Given the description of an element on the screen output the (x, y) to click on. 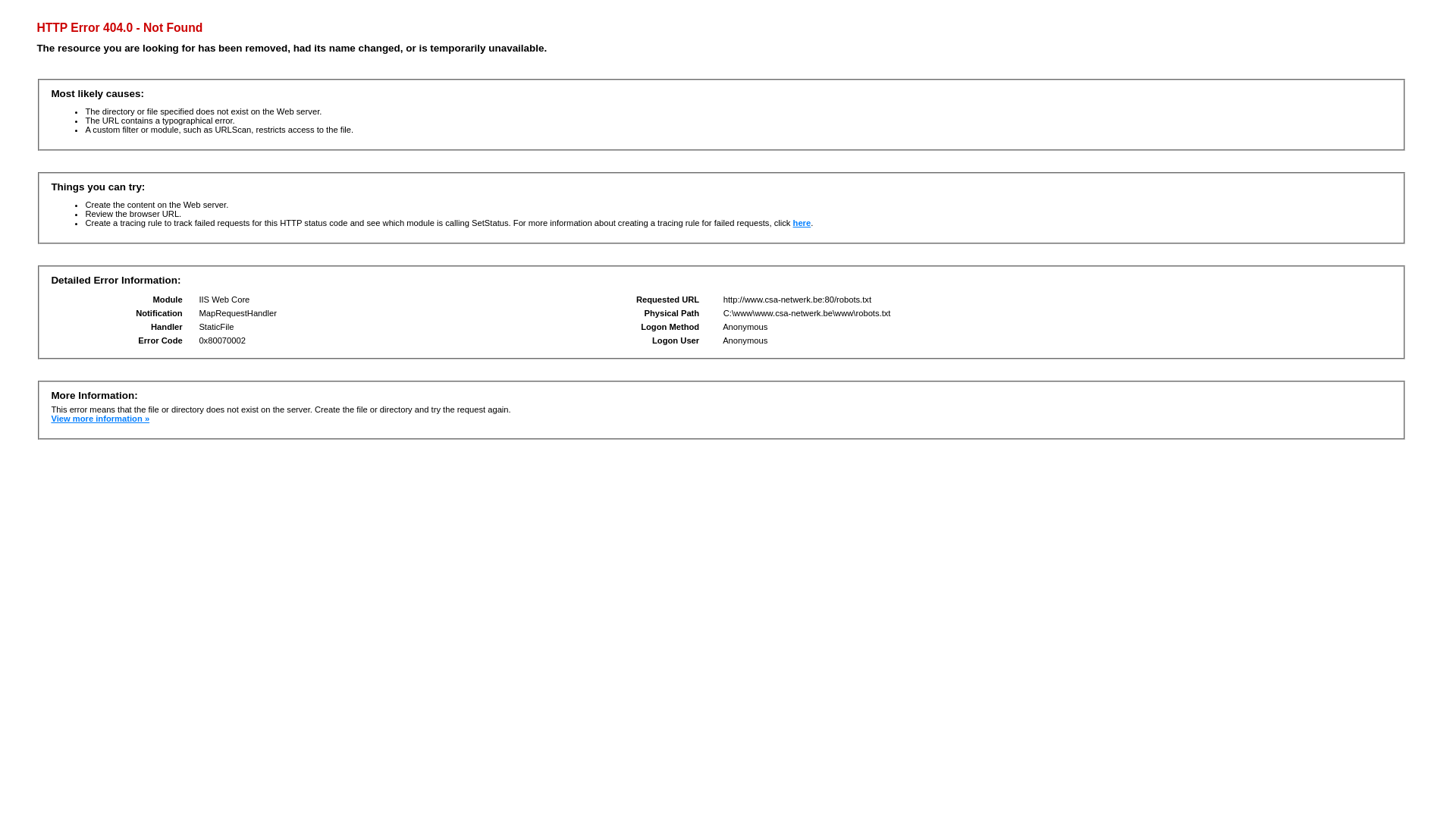
here Element type: text (802, 222)
